Given the description of an element on the screen output the (x, y) to click on. 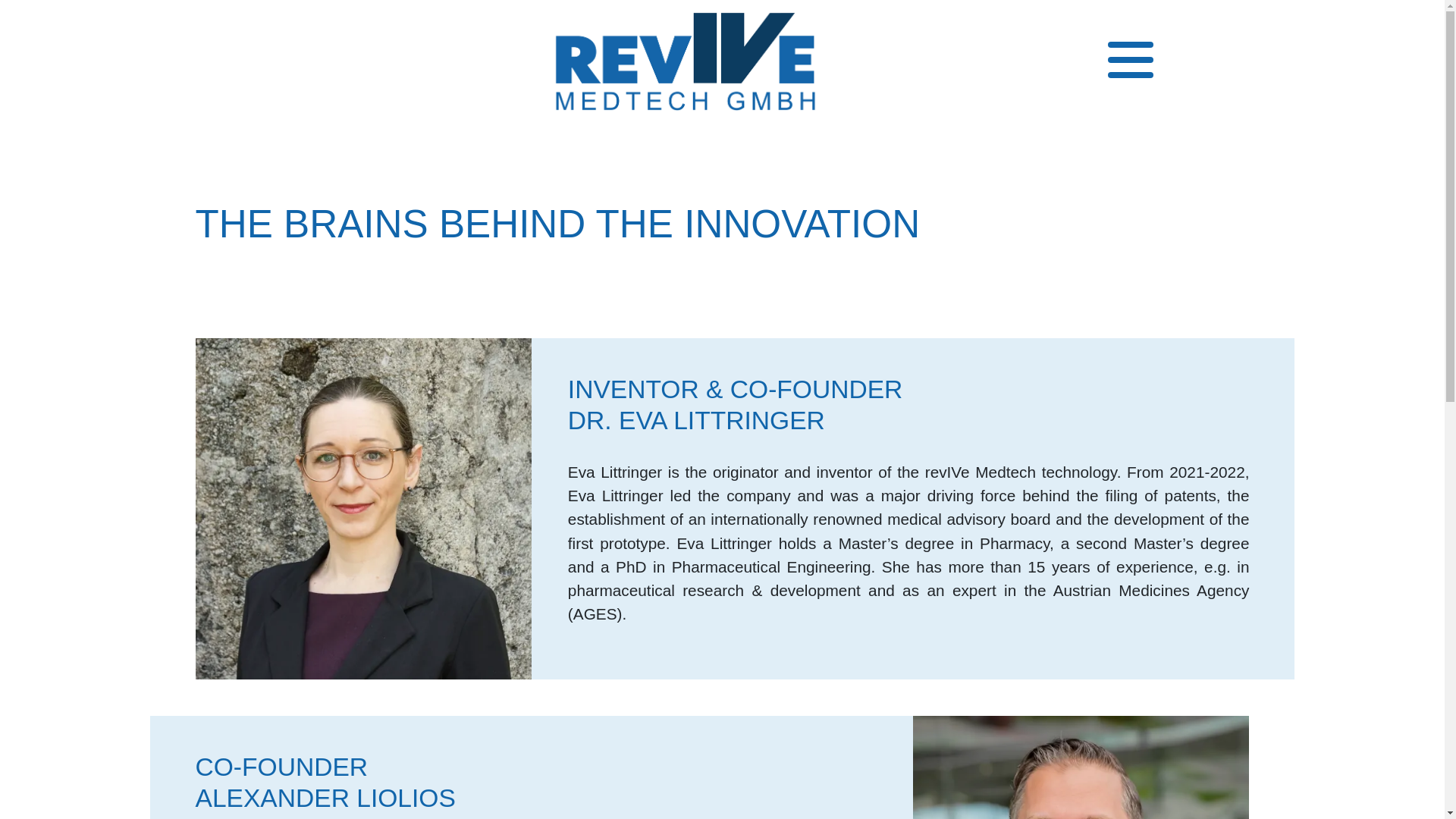
Previous (108, 63)
